Given the description of an element on the screen output the (x, y) to click on. 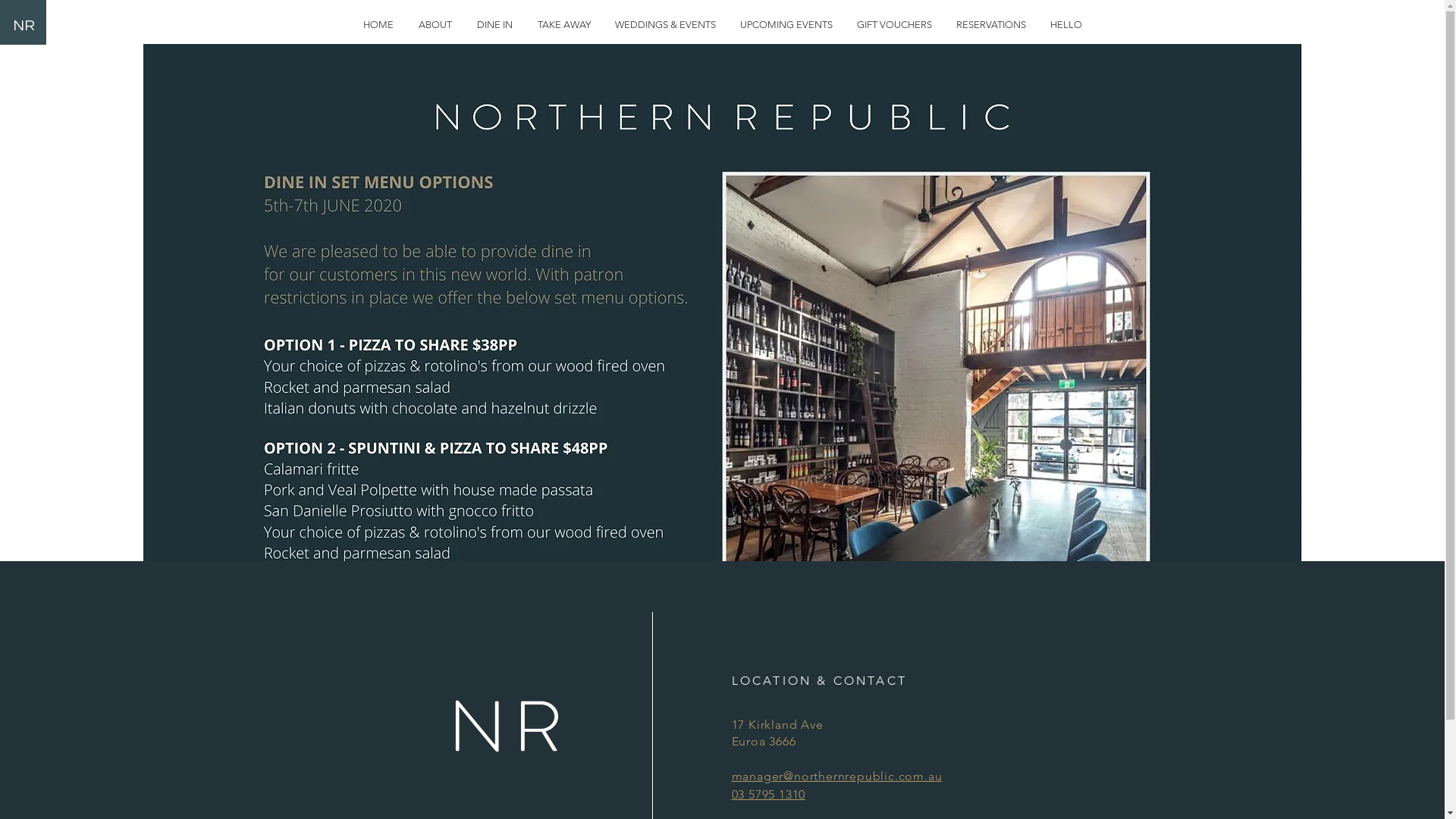
HOME Element type: text (377, 24)
DINE IN Element type: text (494, 24)
WEDDINGS & EVENTS Element type: text (664, 24)
RESERVATIONS Element type: text (990, 24)
TAKE AWAY Element type: text (563, 24)
manager@northernrepublic.com.au Element type: text (836, 775)
UPCOMING EVENTS Element type: text (786, 24)
NR Element type: text (23, 25)
03 5795 1310 Element type: text (768, 794)
HELLO Element type: text (1065, 24)
ABOUT Element type: text (435, 24)
GIFT VOUCHERS Element type: text (894, 24)
